Given the description of an element on the screen output the (x, y) to click on. 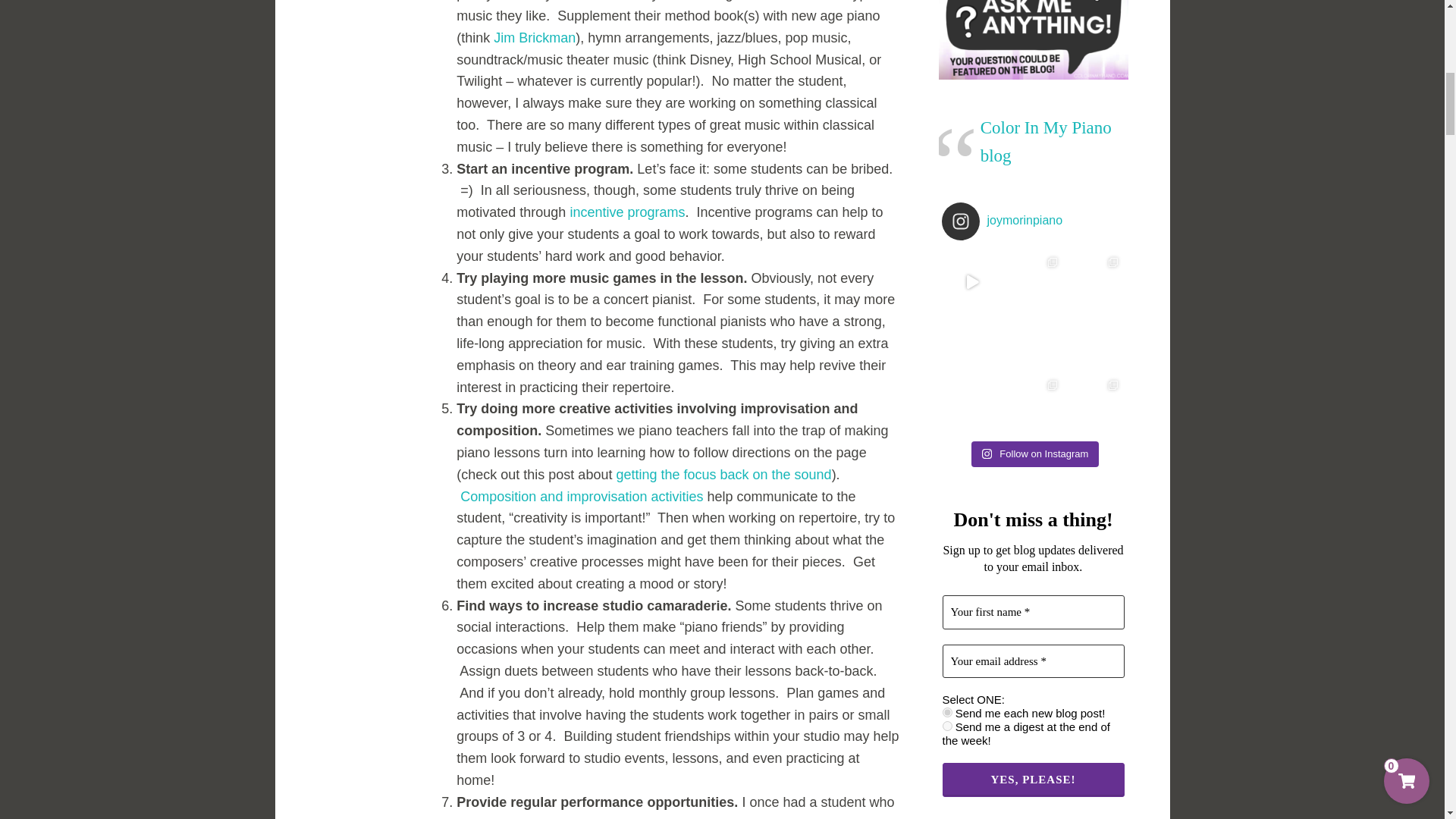
6 (947, 712)
YES, PLEASE! (1033, 779)
Your email address (1033, 661)
Your first name (1033, 612)
Composition and improvisation activities (581, 496)
incentive programs (626, 212)
Jim Brickman (534, 37)
7 (947, 726)
getting the focus back on the sound (723, 474)
